Given the description of an element on the screen output the (x, y) to click on. 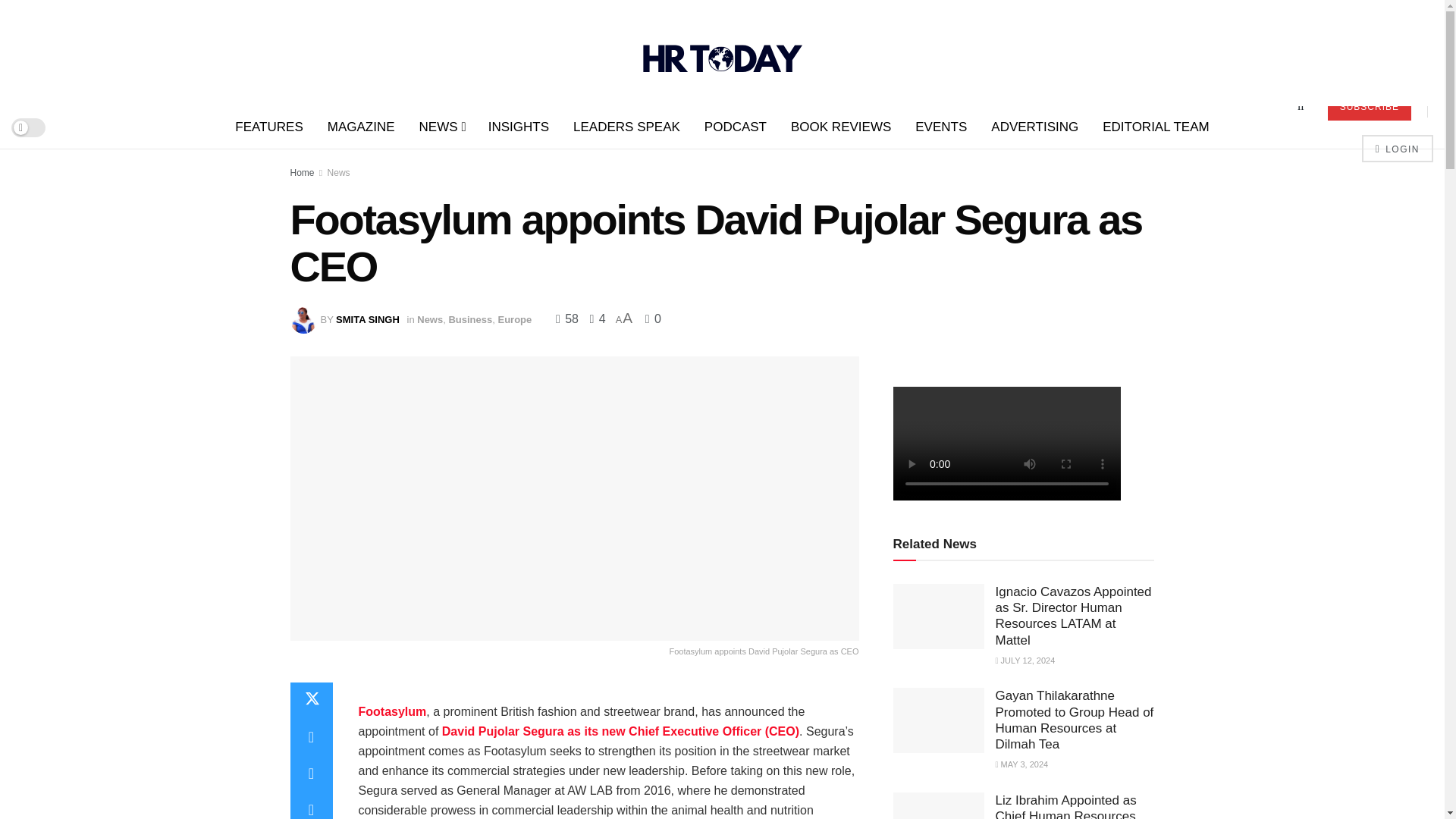
LOGIN (1396, 148)
LEADERS SPEAK (626, 127)
SUBSCRIBE (1368, 106)
FEATURES (268, 127)
EVENTS (940, 127)
INSIGHTS (518, 127)
BOOK REVIEWS (840, 127)
EDITORIAL TEAM (1155, 127)
PODCAST (735, 127)
MAGAZINE (361, 127)
ADVERTISING (1034, 127)
NEWS (441, 127)
